Given the description of an element on the screen output the (x, y) to click on. 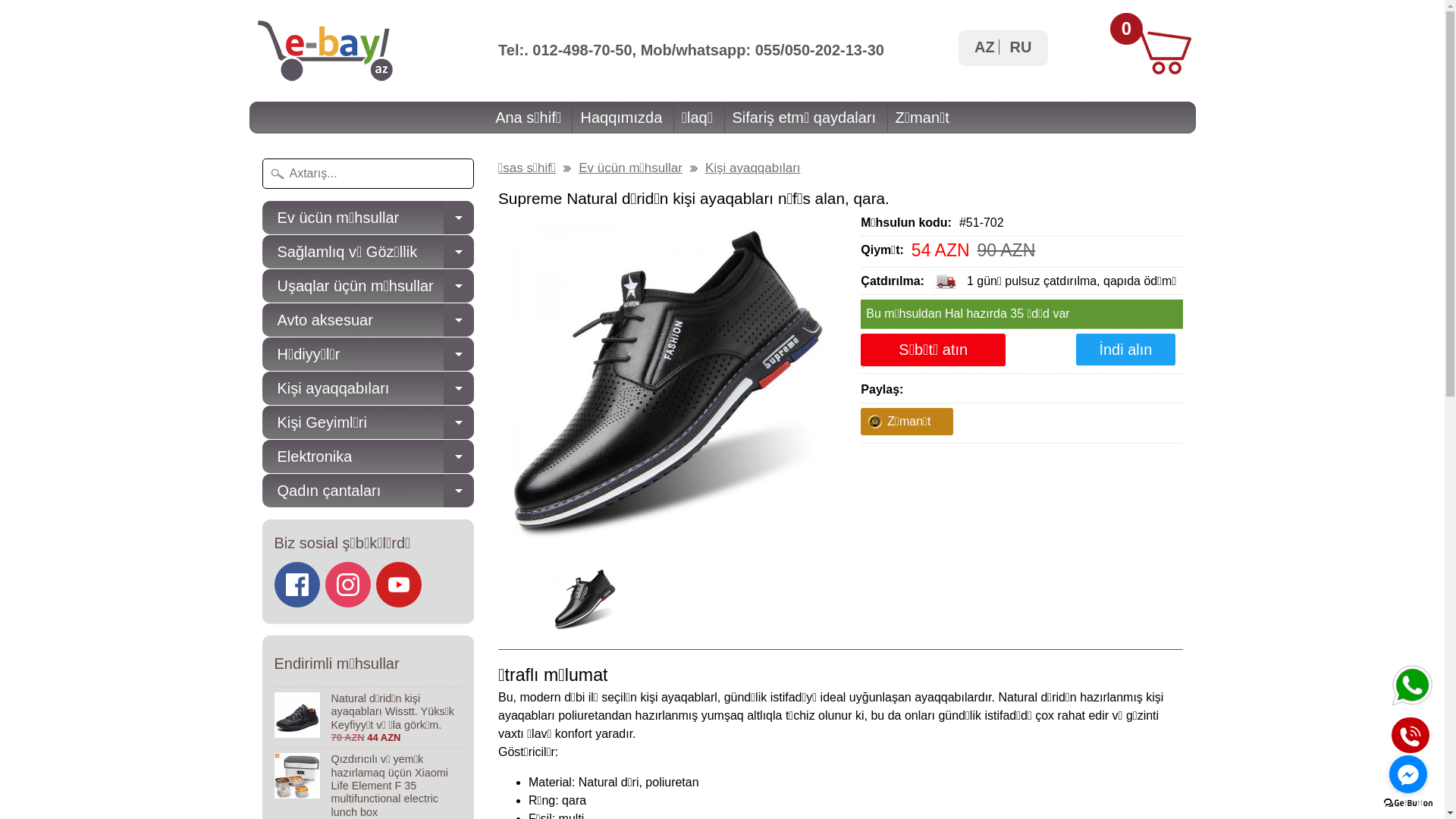
- Element type: text (458, 285)
- Element type: text (458, 490)
0 Element type: text (1125, 29)
Elektronika
- Element type: text (368, 456)
Instagram Element type: hover (347, 584)
- Element type: text (458, 217)
- Element type: text (458, 353)
- Element type: text (458, 422)
- Element type: text (458, 251)
Facebook Element type: hover (297, 584)
Avto aksesuar
- Element type: text (368, 319)
Youtube Element type: hover (398, 584)
AZ Element type: text (982, 46)
RU Element type: text (1020, 46)
- Element type: text (458, 319)
e-bay.az Element type: hover (324, 50)
- Element type: text (458, 387)
- Element type: text (458, 456)
